Given the description of an element on the screen output the (x, y) to click on. 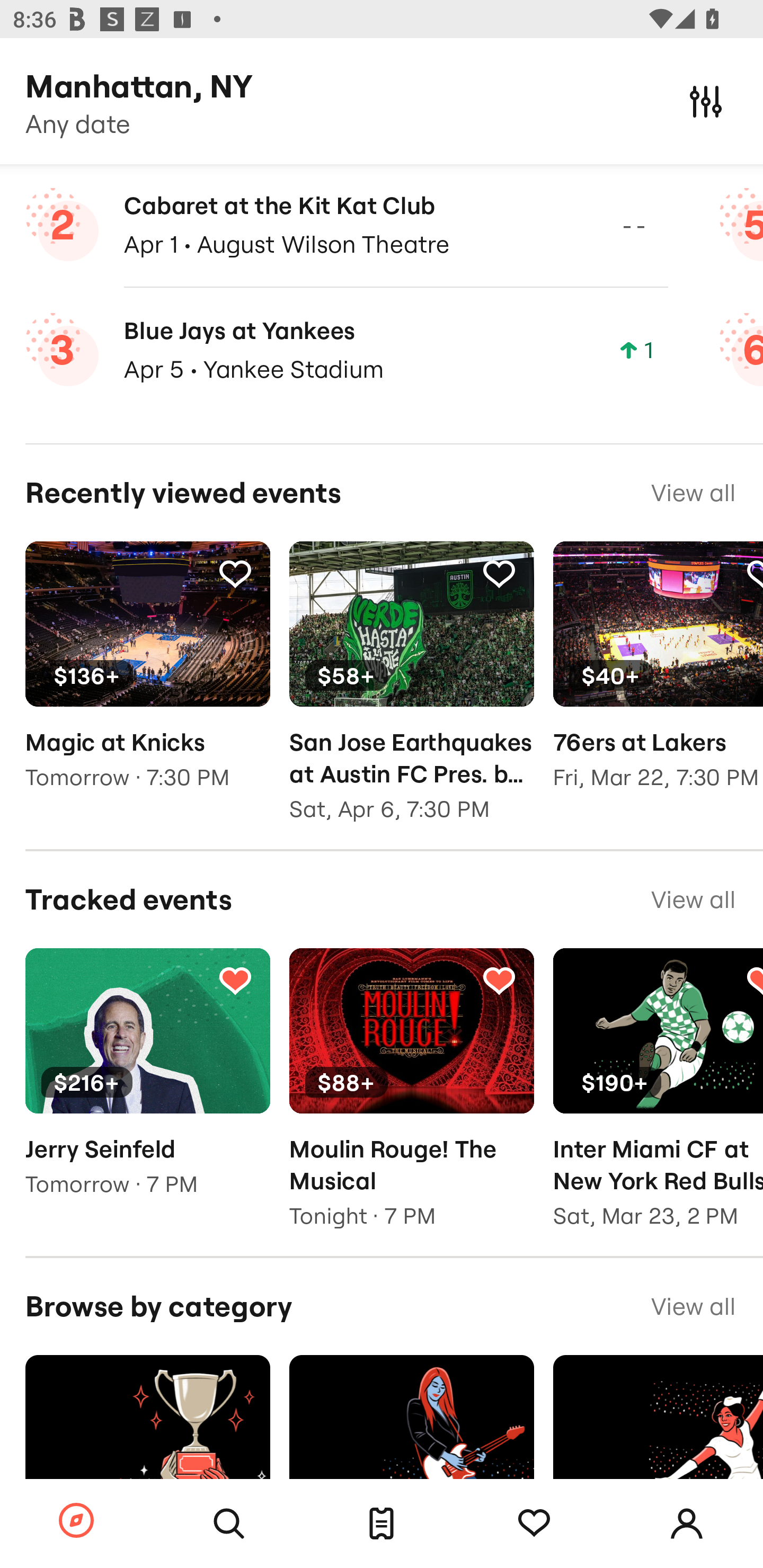
Filters (705, 100)
View all (693, 491)
Tracking $136+ Magic at Knicks Tomorrow · 7:30 PM (147, 678)
Tracking $40+ 76ers at Lakers Fri, Mar 22, 7:30 PM (658, 678)
Tracking (234, 572)
Tracking (498, 572)
View all (693, 899)
Tracking $216+ Jerry Seinfeld Tomorrow · 7 PM (147, 1085)
Tracking (234, 979)
Tracking (498, 979)
View all (693, 1305)
Sports (147, 1437)
Concerts (411, 1437)
Broadway (658, 1437)
Browse (76, 1521)
Search (228, 1523)
Tickets (381, 1523)
Tracking (533, 1523)
Account (686, 1523)
